Given the description of an element on the screen output the (x, y) to click on. 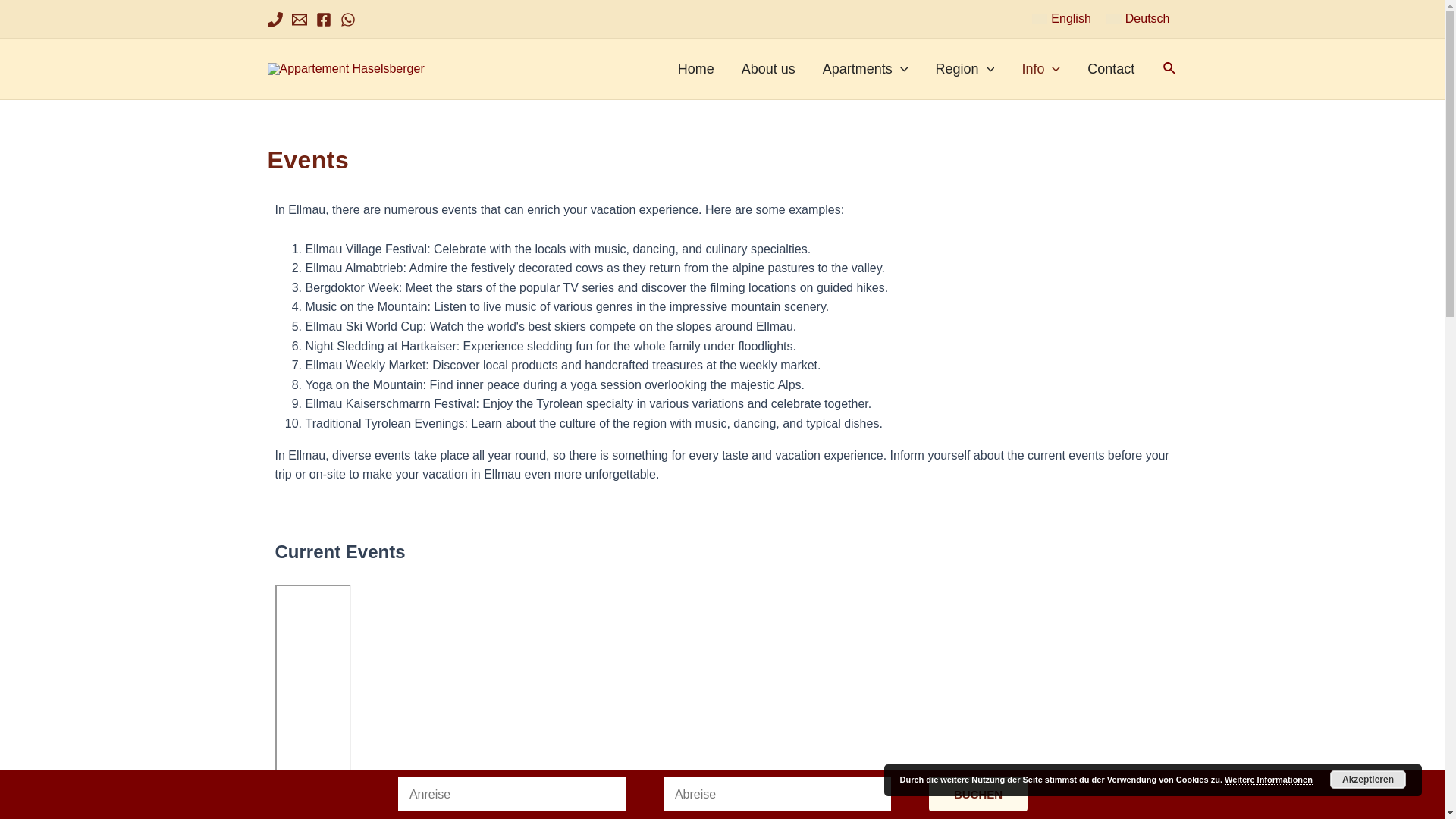
Info (1040, 68)
Apartments (865, 68)
Deutsch (1138, 18)
Home (695, 68)
Region (965, 68)
Contact (1111, 68)
Buchen (977, 794)
Buchen (977, 794)
About us (768, 68)
English (1061, 18)
